Given the description of an element on the screen output the (x, y) to click on. 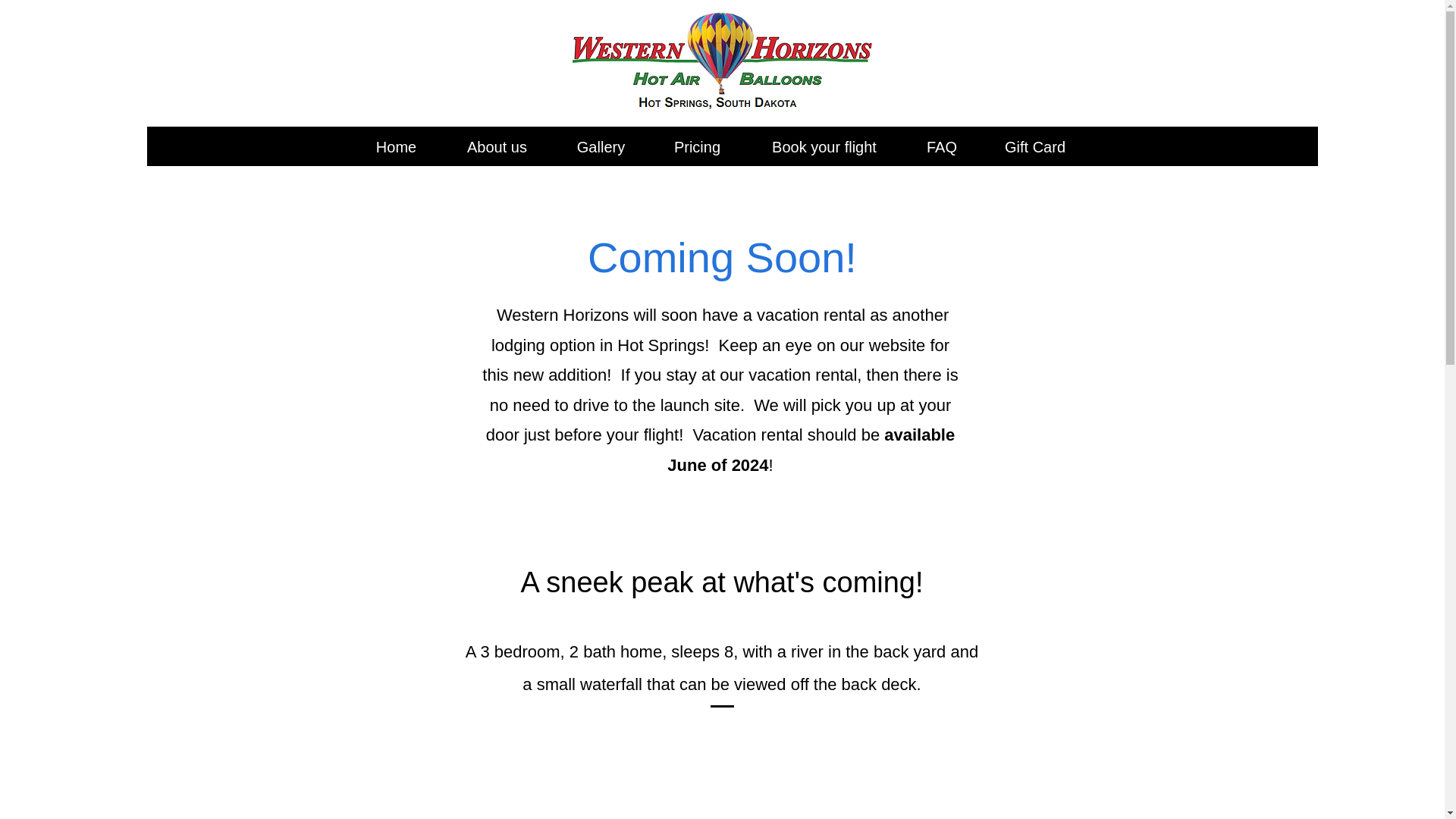
Book your flight (823, 139)
FAQ (941, 139)
Home (395, 139)
About us (496, 139)
Pricing (696, 139)
Gift Card (1034, 139)
Gallery (600, 139)
